Given the description of an element on the screen output the (x, y) to click on. 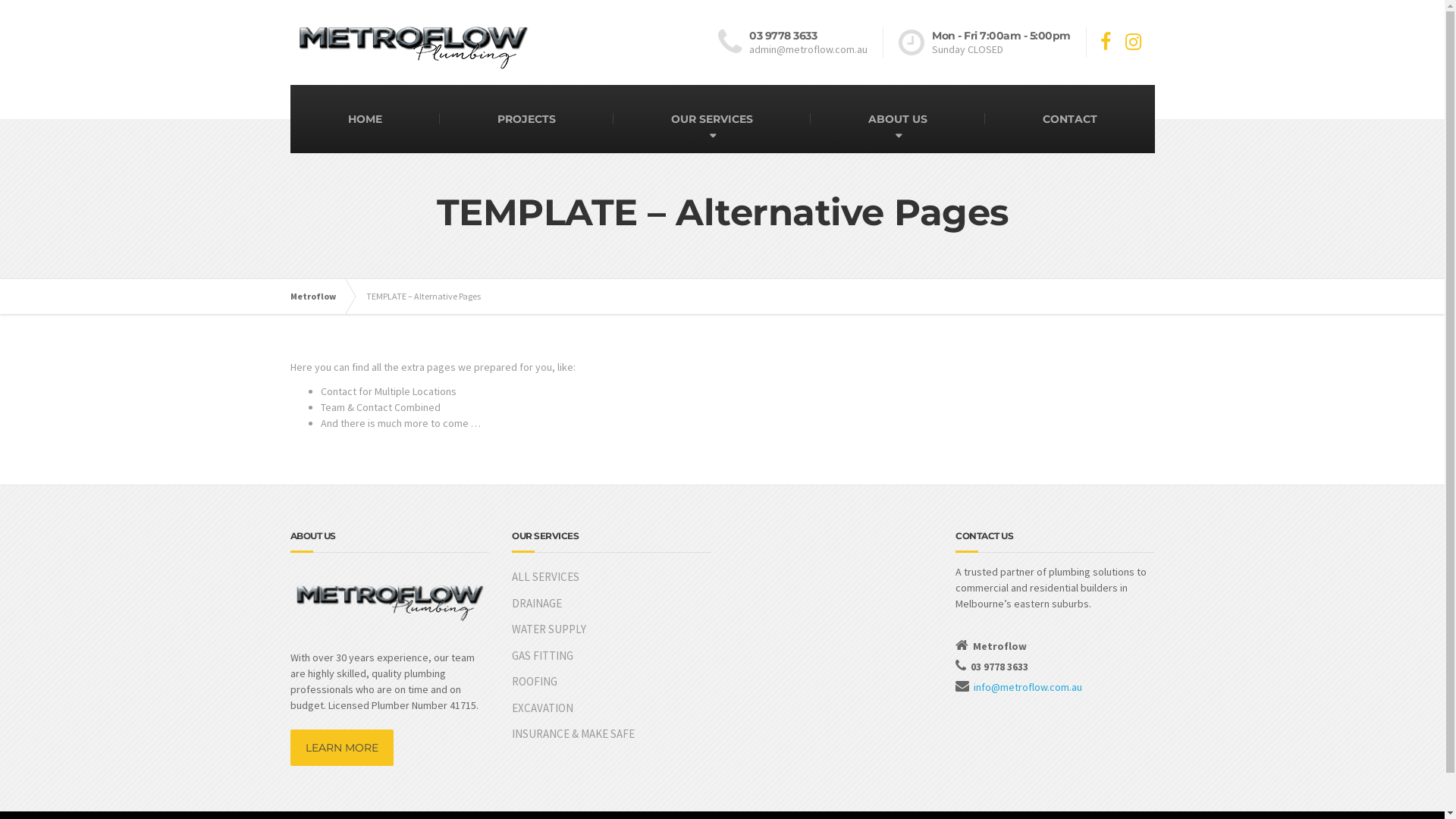
03 9778 3633
admin@metroflow.com.au Element type: text (800, 42)
ROOFING Element type: text (611, 681)
INSURANCE & MAKE SAFE Element type: text (611, 734)
ALL SERVICES Element type: text (611, 577)
PROJECTS Element type: text (526, 118)
Metroflow Element type: text (319, 296)
WATER SUPPLY Element type: text (611, 629)
HOME Element type: text (364, 118)
ABOUT US Element type: text (896, 118)
EXCAVATION Element type: text (611, 708)
DRAINAGE Element type: text (611, 603)
CONTACT Element type: text (1069, 118)
info@metroflow.com.au Element type: text (1027, 686)
GAS FITTING Element type: text (611, 656)
OUR SERVICES Element type: text (710, 118)
LEARN MORE Element type: text (340, 747)
